Given the description of an element on the screen output the (x, y) to click on. 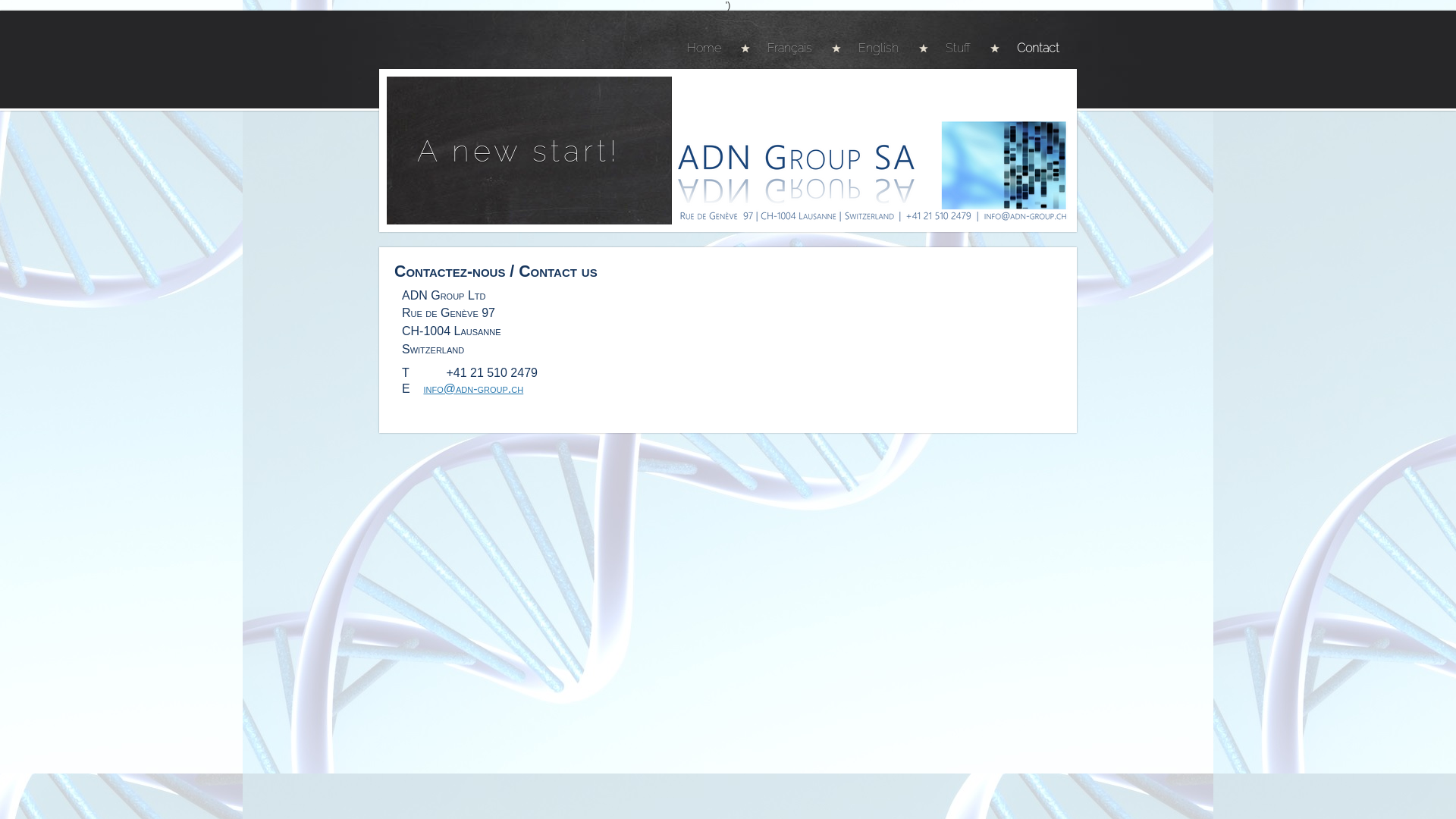
Stuff Element type: text (953, 47)
Contact Element type: text (1033, 47)
English Element type: text (873, 47)
info@adn-group.ch Element type: text (473, 388)
Home Element type: text (712, 47)
A new start! Element type: text (518, 150)
